Given the description of an element on the screen output the (x, y) to click on. 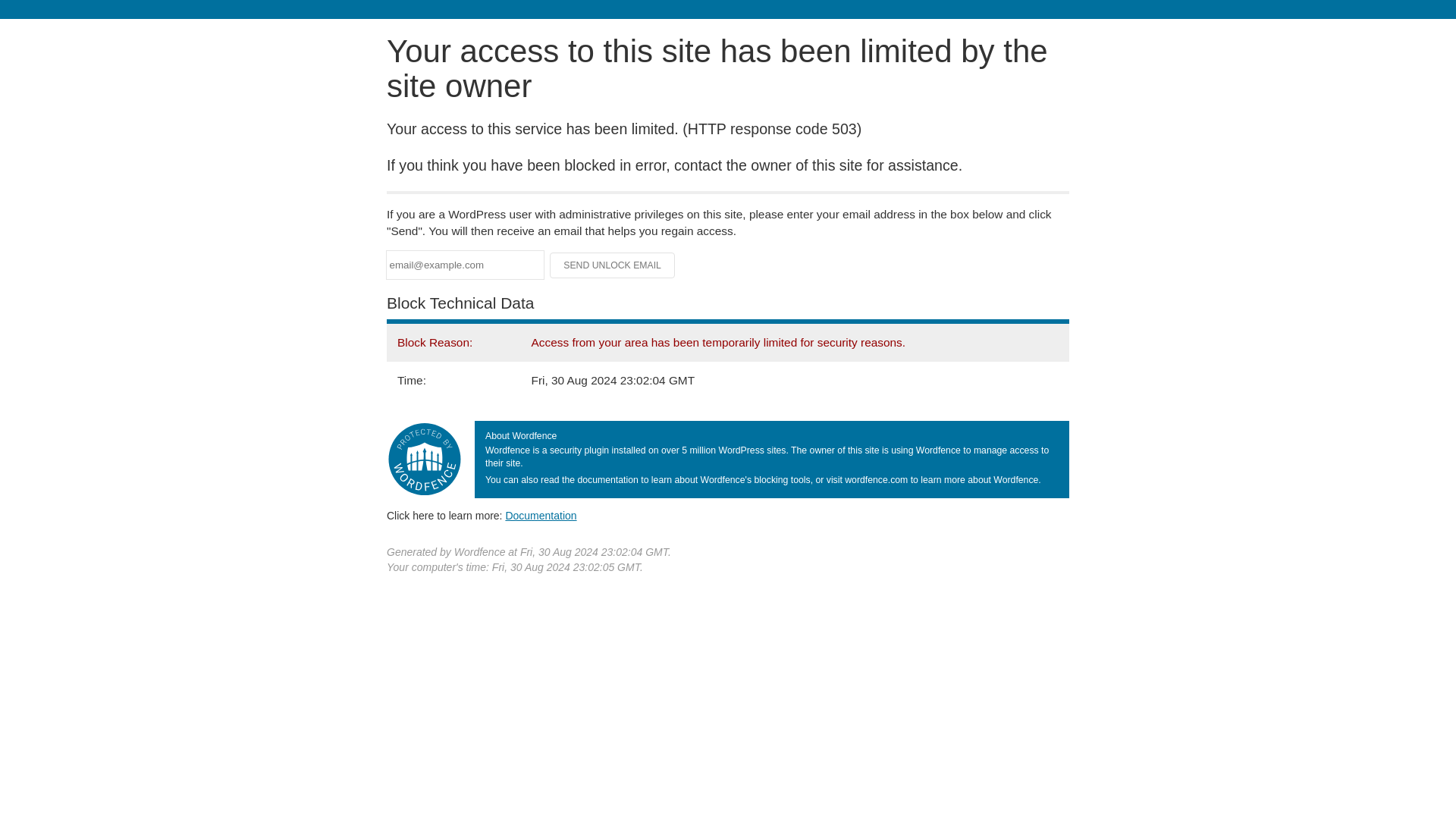
Send Unlock Email (612, 265)
Send Unlock Email (612, 265)
Documentation (540, 515)
